Given the description of an element on the screen output the (x, y) to click on. 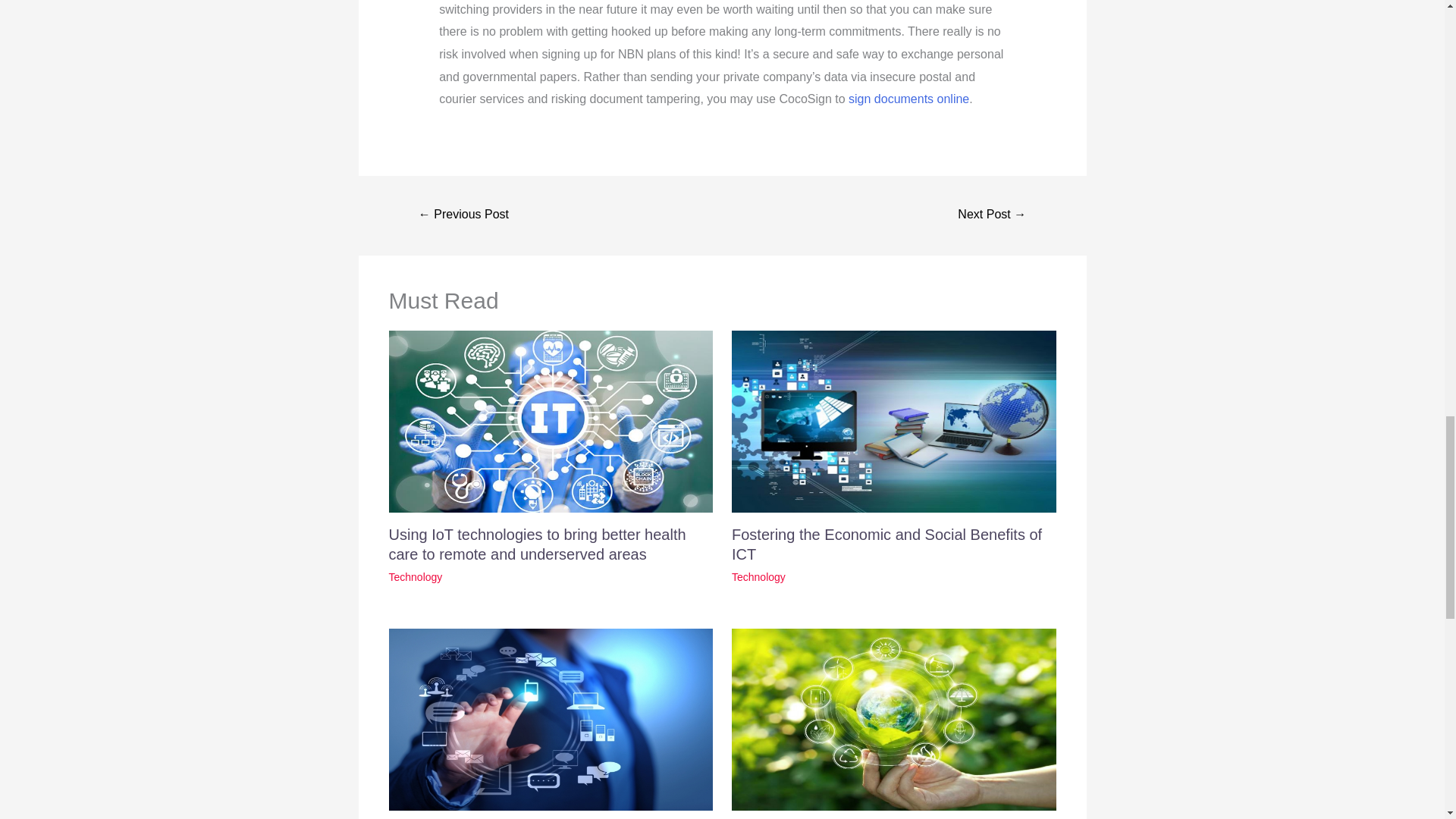
sign documents online (908, 98)
Technology (415, 576)
Technology (759, 576)
Fostering the Economic and Social Benefits of ICT (887, 544)
